Given the description of an element on the screen output the (x, y) to click on. 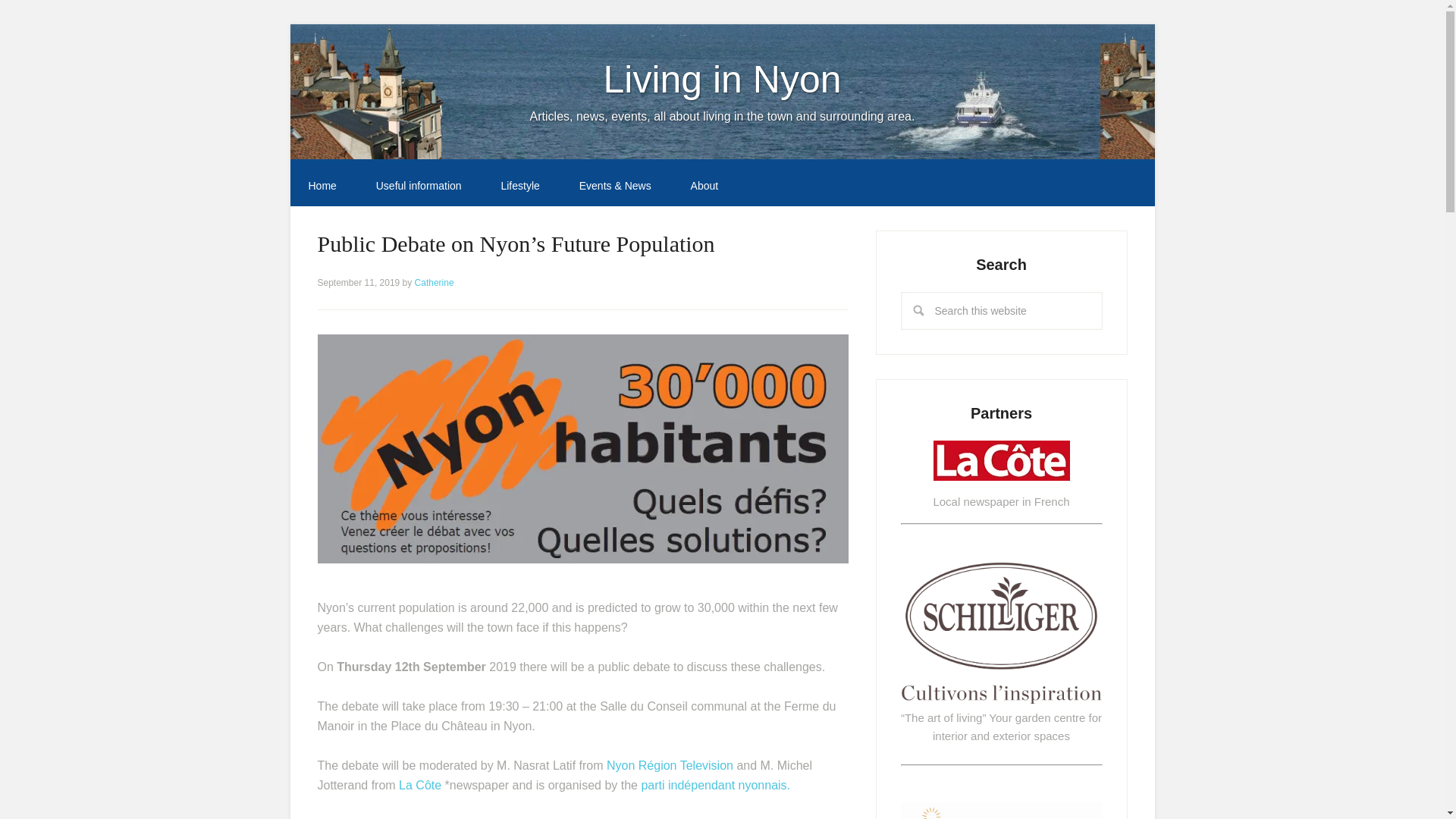
Catherine (434, 282)
Lifestyle (519, 185)
About (704, 185)
Living in Nyon (721, 79)
Useful information (419, 185)
Home (321, 185)
